Given the description of an element on the screen output the (x, y) to click on. 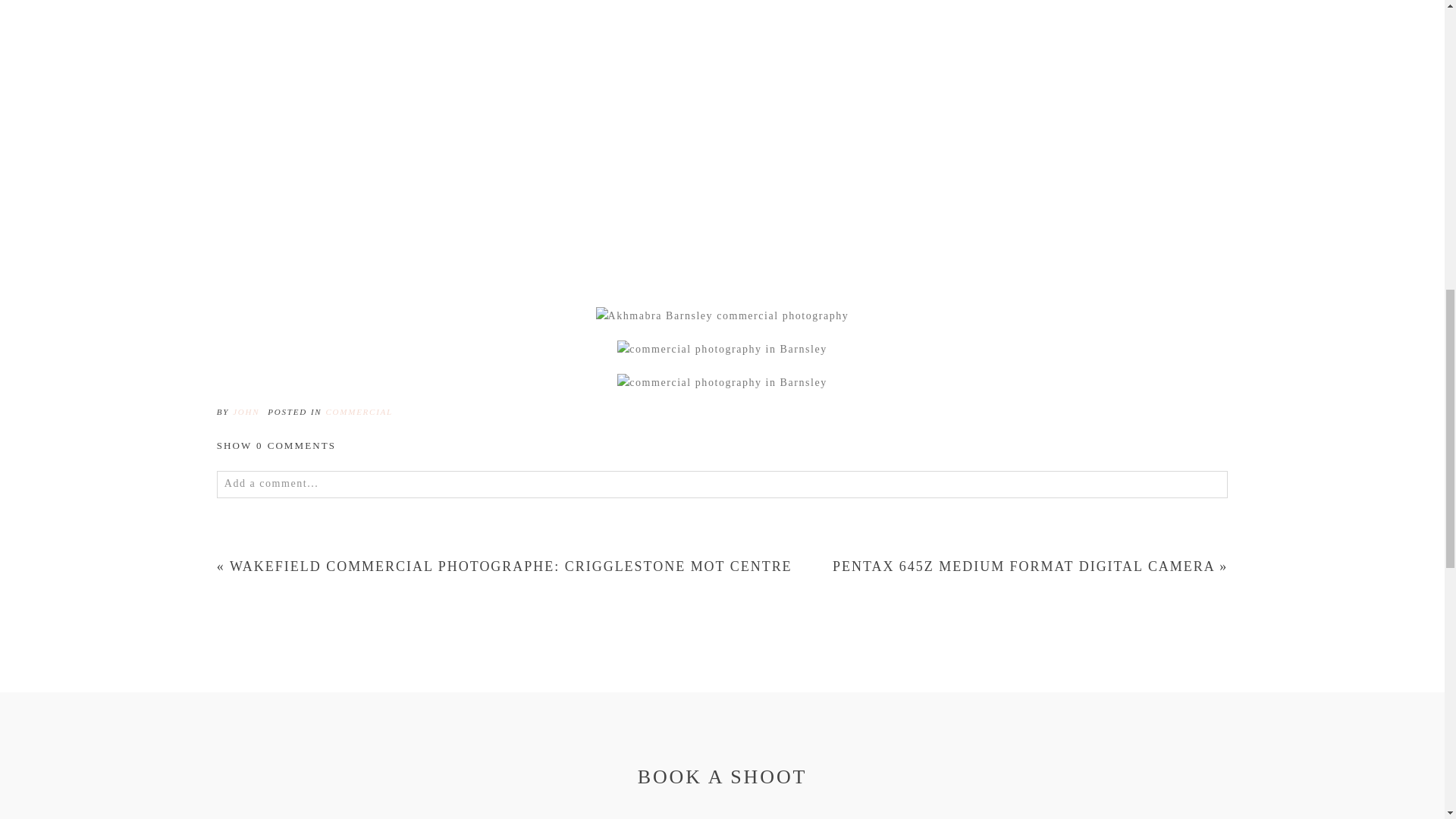
SHOW 0 COMMENTS (276, 445)
JOHN (245, 411)
COMMERCIAL (357, 411)
PENTAX 645Z MEDIUM FORMAT DIGITAL CAMERA (1023, 565)
WAKEFIELD COMMERCIAL PHOTOGRAPHE: CRIGGLESTONE MOT CENTRE (511, 565)
